Given the description of an element on the screen output the (x, y) to click on. 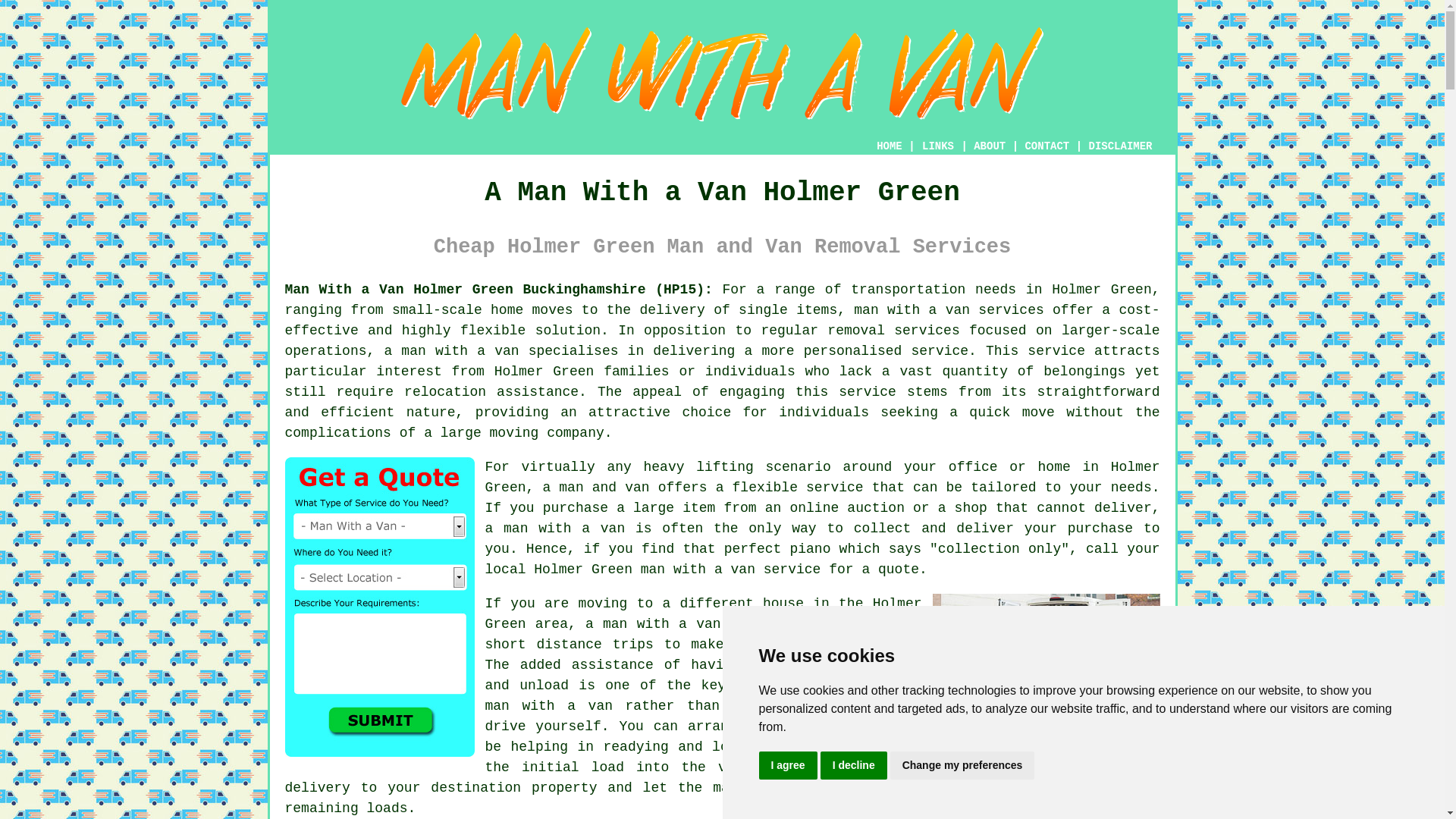
a man with a van service (686, 623)
HOME (889, 146)
man with a van services (948, 309)
I decline (853, 765)
I agree (787, 765)
A Man With a Van Holmer Green (722, 74)
Change my preferences (962, 765)
man and van (604, 487)
Man With a Van Holmer Green Buckinghamshire (1046, 667)
LINKS (938, 146)
